Given the description of an element on the screen output the (x, y) to click on. 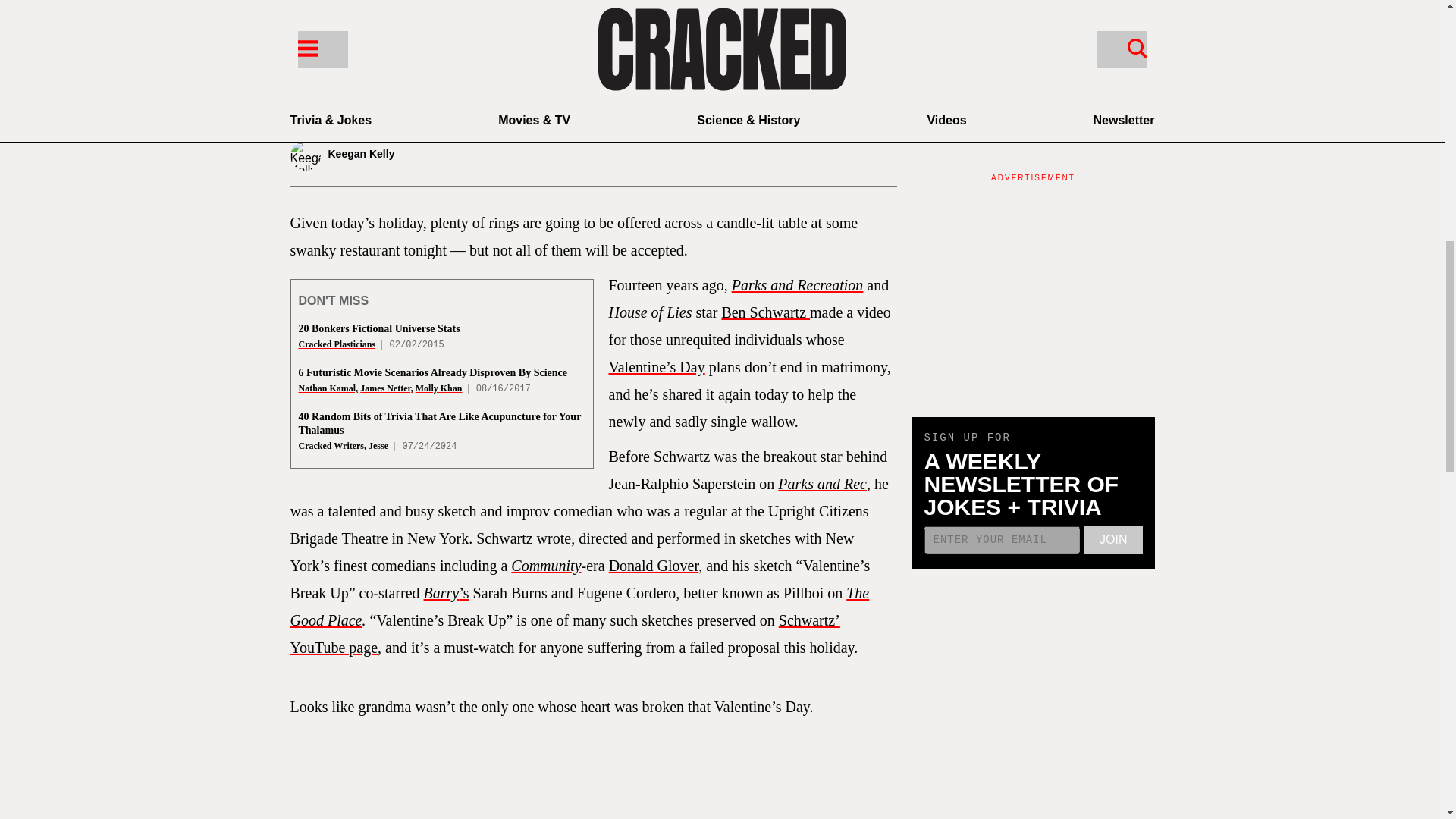
Keegan Kelly (387, 155)
James Netter, (386, 388)
Molly Khan (438, 388)
6 Futuristic Movie Scenarios Already Disproven By Science (432, 372)
Cracked Plasticians (336, 344)
Nathan Kamal, (328, 388)
20 Bonkers Fictional Universe Stats (379, 328)
